Given the description of an element on the screen output the (x, y) to click on. 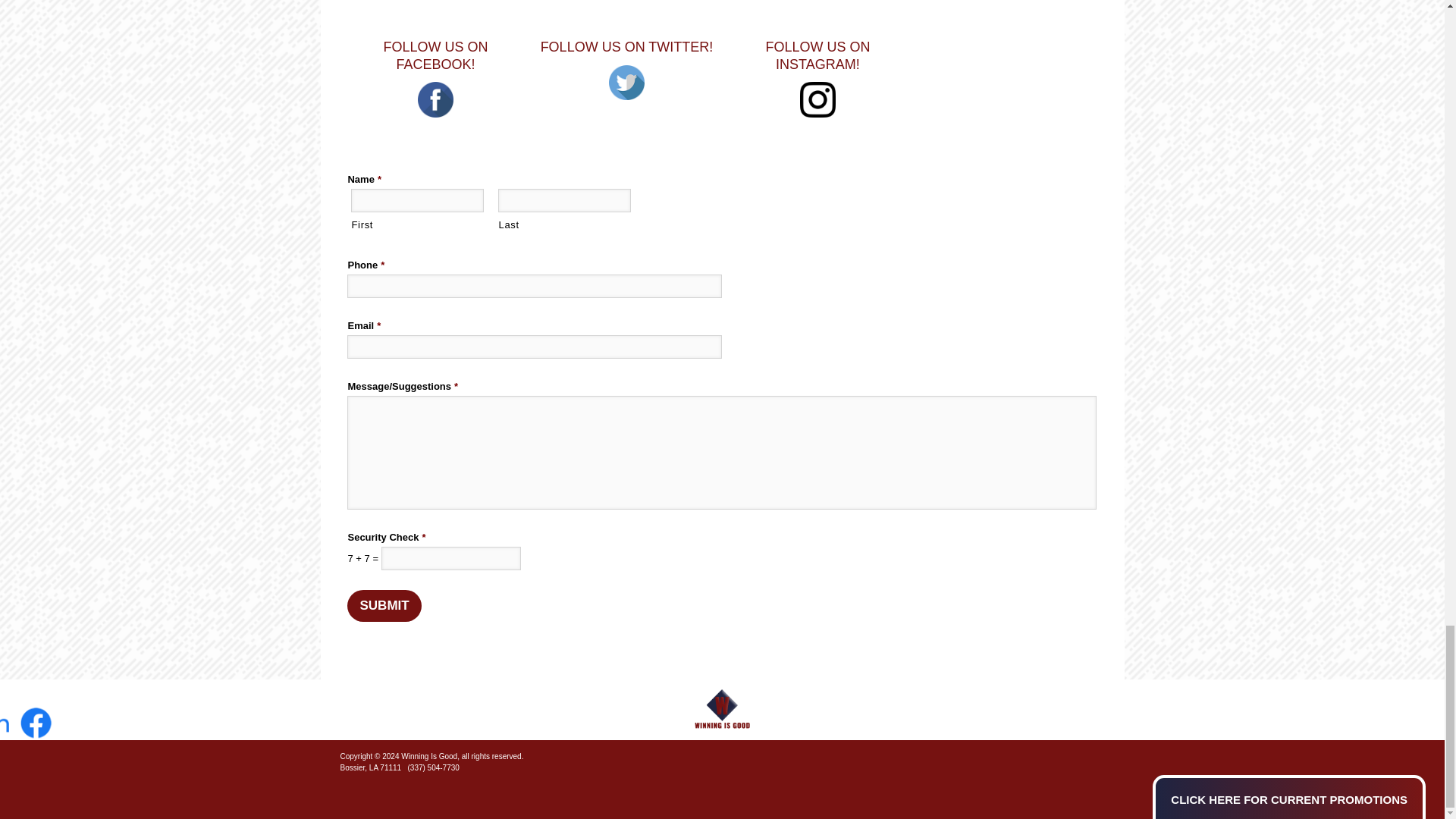
Winning Is Good (722, 709)
Submit (383, 605)
